Given the description of an element on the screen output the (x, y) to click on. 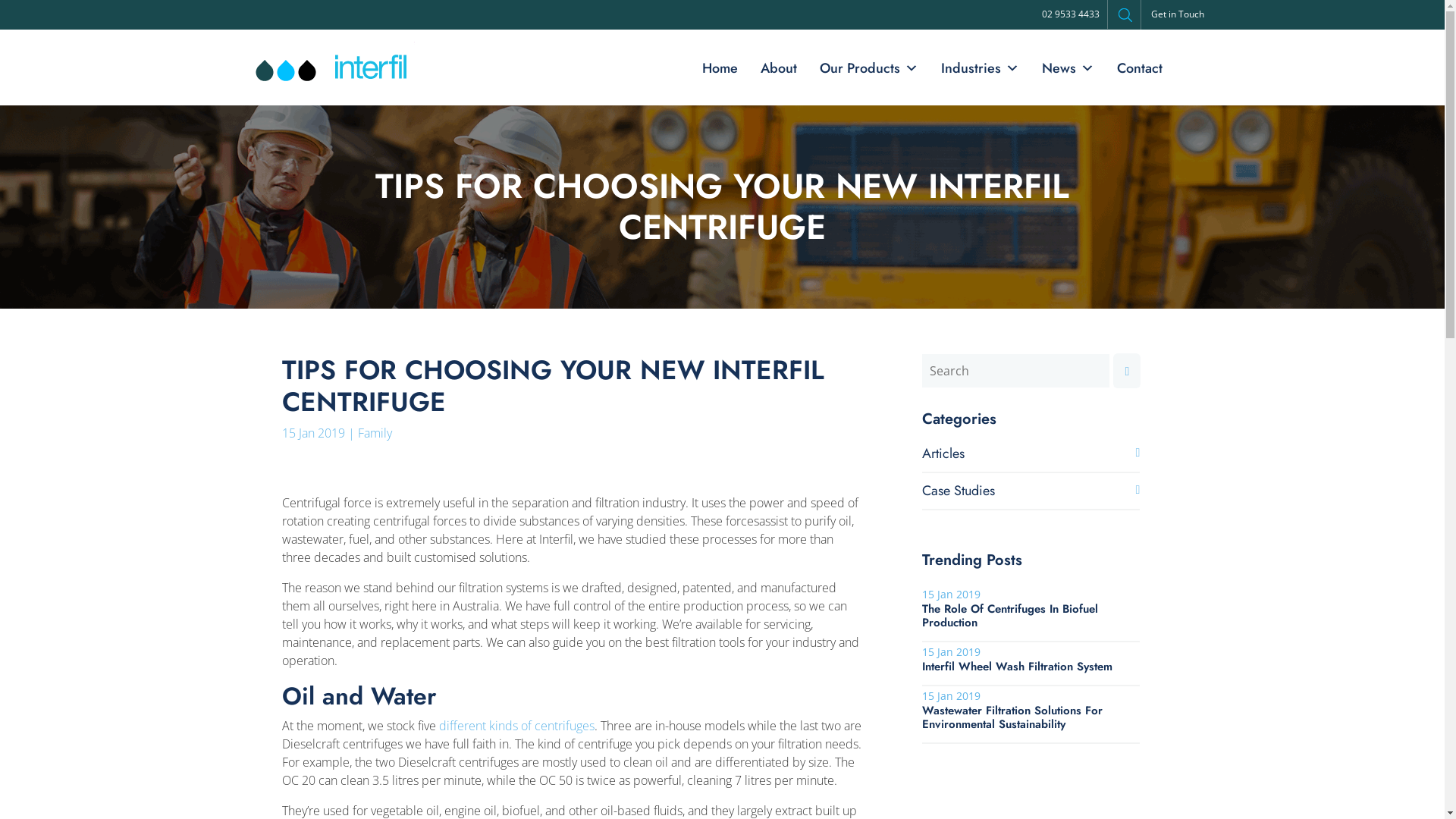
15 Jan 2019
The Role Of Centrifuges In Biofuel Production Element type: text (1030, 607)
News Element type: text (1066, 68)
02 9533 4433 Element type: text (1070, 13)
15 Jan 2019
Interfil Wheel Wash Filtration System Element type: text (1030, 658)
About Element type: text (778, 68)
different kinds of centrifuges Element type: text (516, 725)
Case Studies Element type: text (958, 490)
Our Products Element type: text (868, 68)
Contact Element type: text (1139, 68)
Industries Element type: text (979, 68)
Home Element type: text (719, 68)
Articles Element type: text (943, 453)
Get in Touch Element type: text (1177, 13)
